Given the description of an element on the screen output the (x, y) to click on. 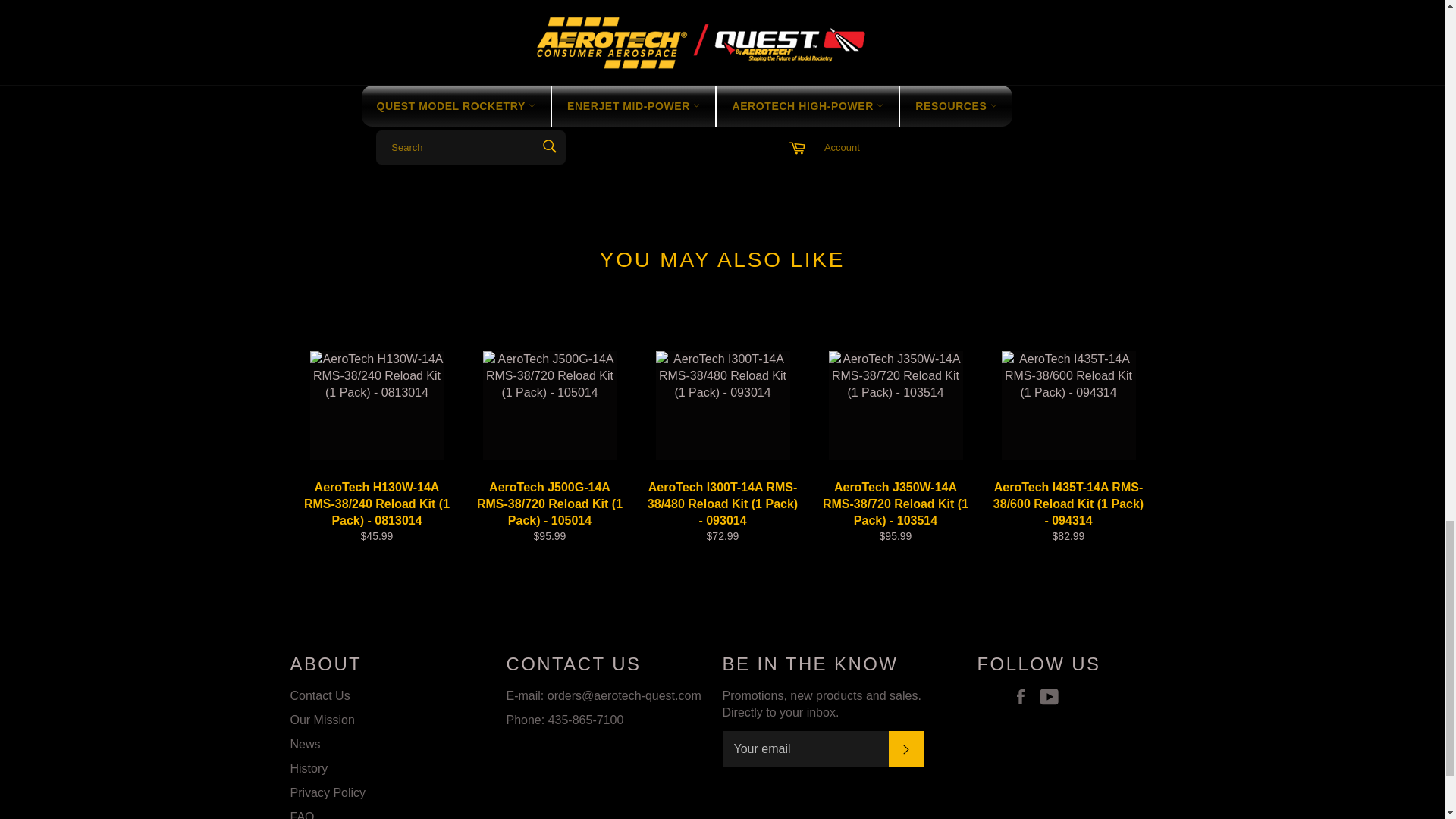
Share on Facebook (1088, 113)
Tweet on Twitter (1117, 113)
Pin on Pinterest (1144, 113)
